Given the description of an element on the screen output the (x, y) to click on. 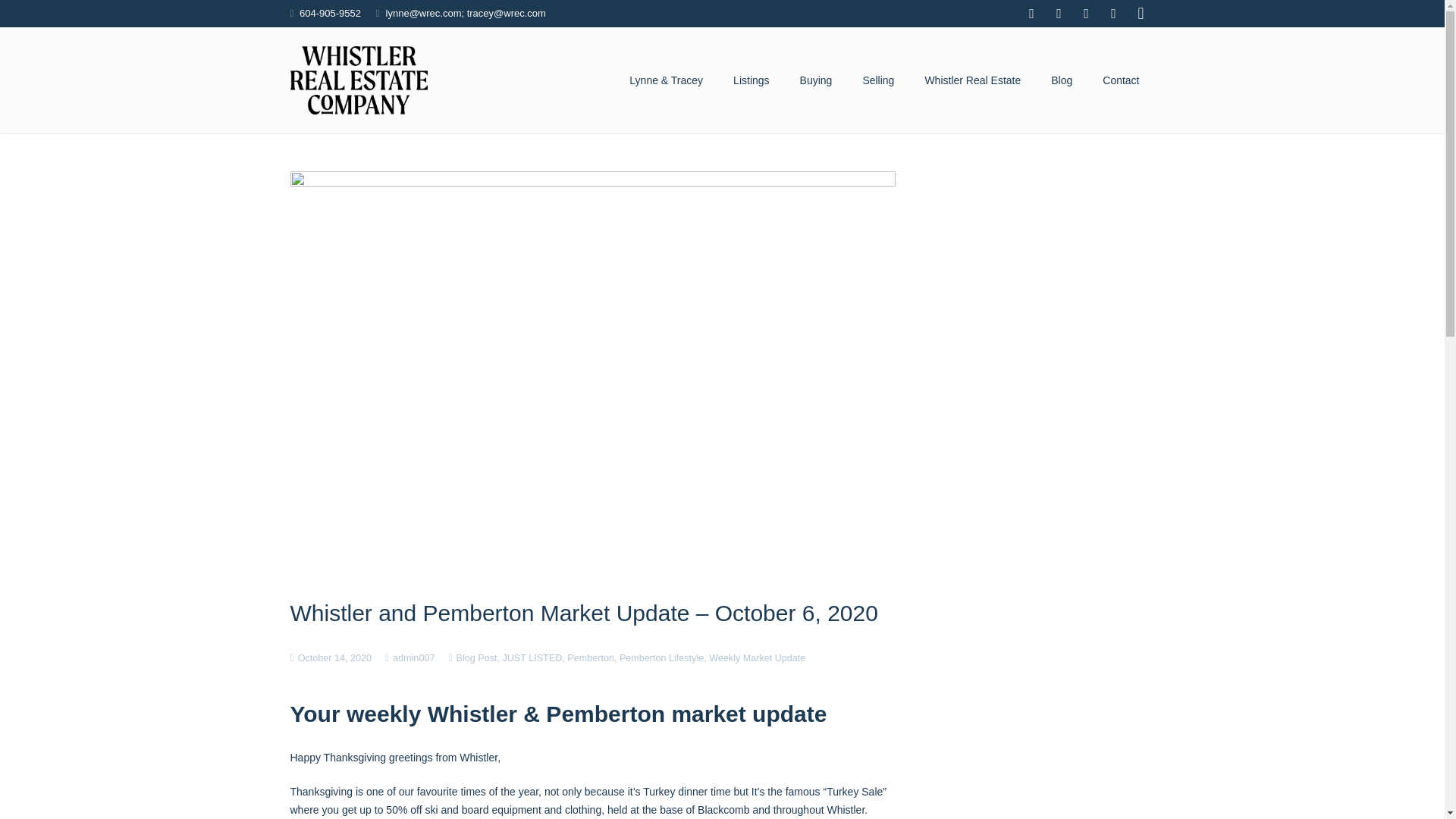
Buying (815, 80)
Pemberton (590, 657)
Listings (750, 80)
Selling (877, 80)
JUST LISTED (532, 657)
Contact (1120, 80)
Whistler Real Estate (971, 80)
Pemberton Lifestyle (661, 657)
Blog (1061, 80)
Weekly Market Update (757, 657)
